Given the description of an element on the screen output the (x, y) to click on. 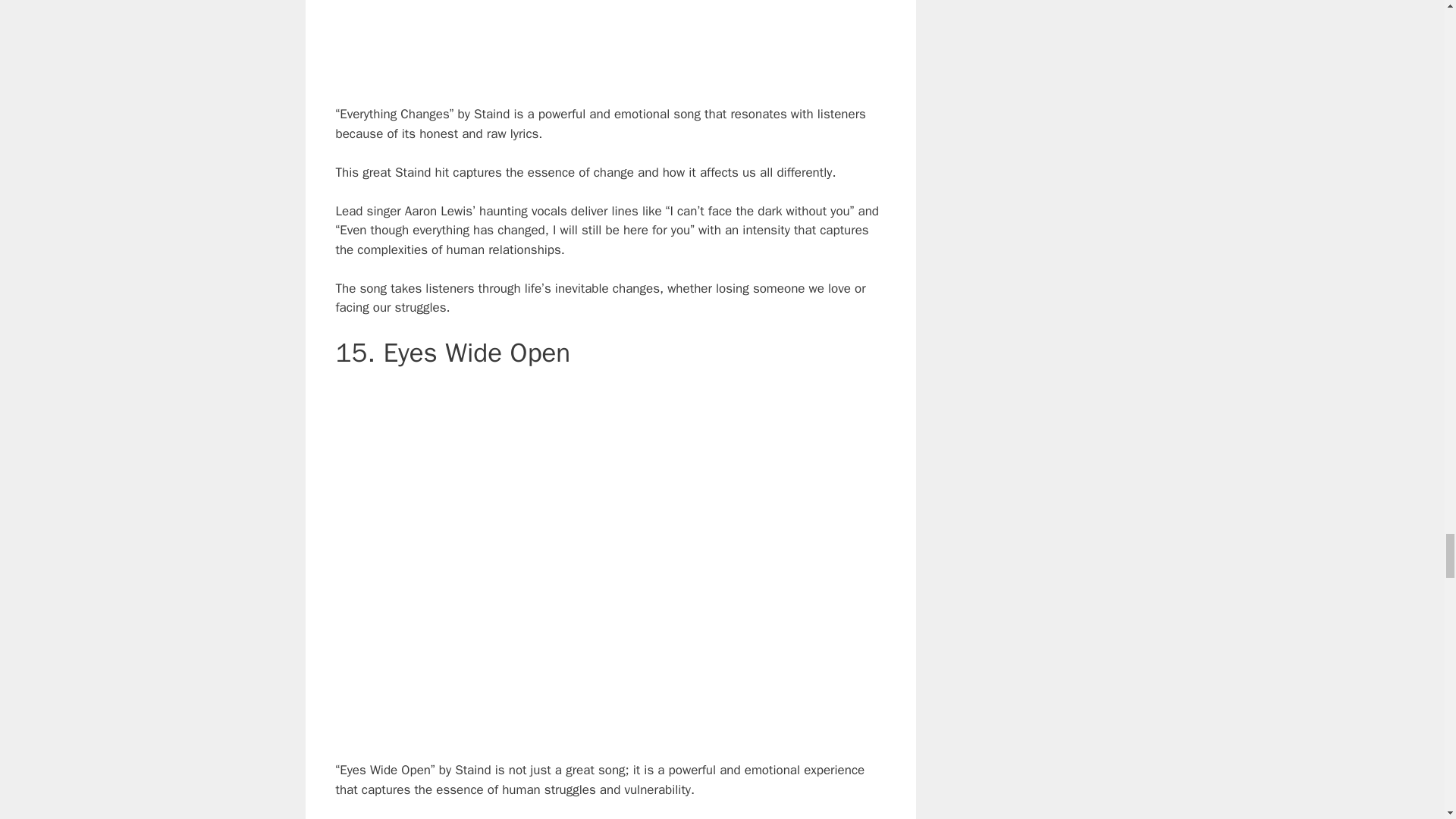
Everything changes - Staind lyrics (609, 39)
